Given the description of an element on the screen output the (x, y) to click on. 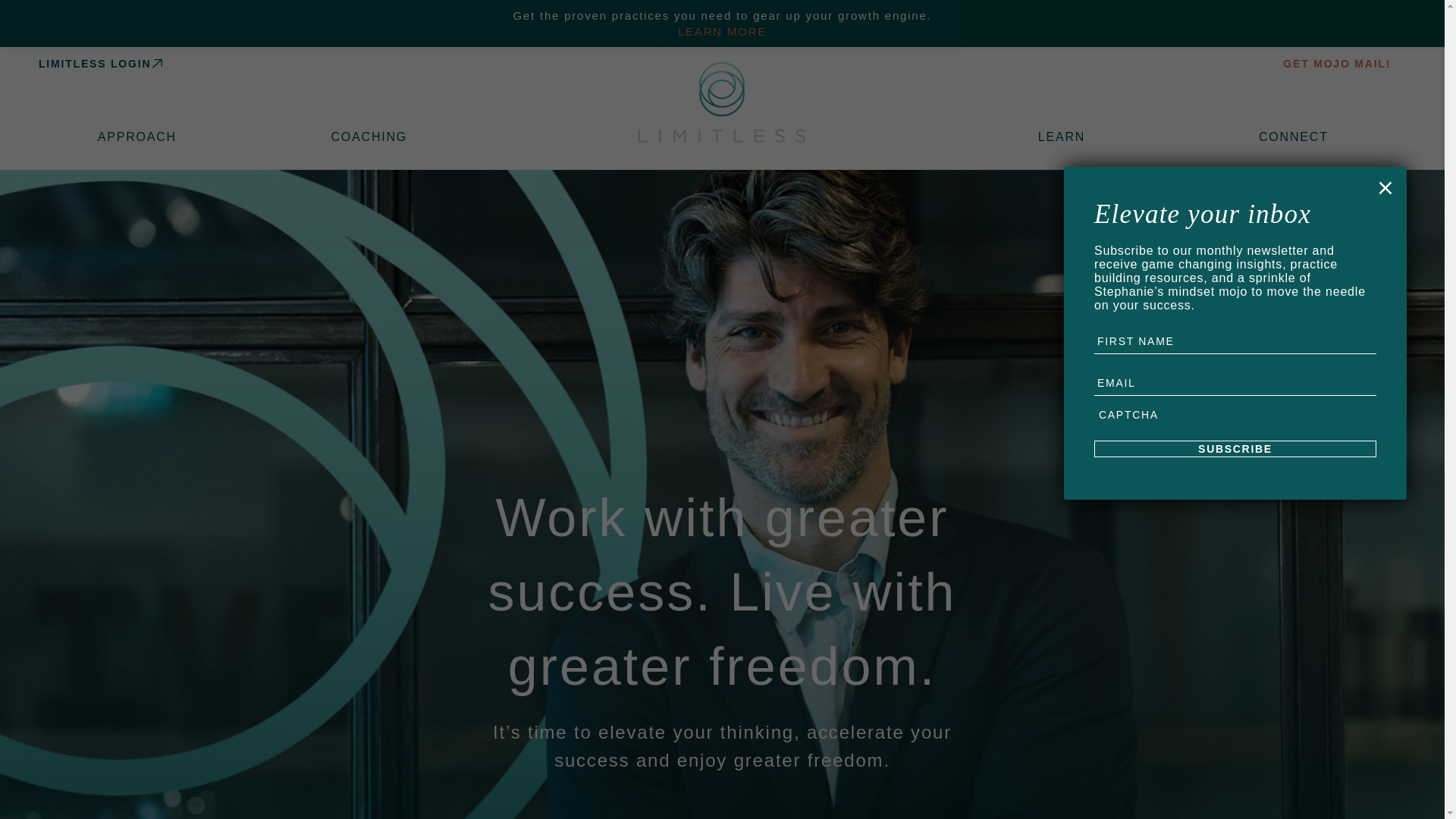
GET MOJO MAIL! (1061, 63)
SKIP TO CONTENT (722, 19)
APPROACH (140, 136)
CONNECT (1297, 136)
COACHING (372, 136)
Subscribe (1234, 448)
LEARN (1064, 136)
LIMITLESS LOGIN (370, 63)
